Given the description of an element on the screen output the (x, y) to click on. 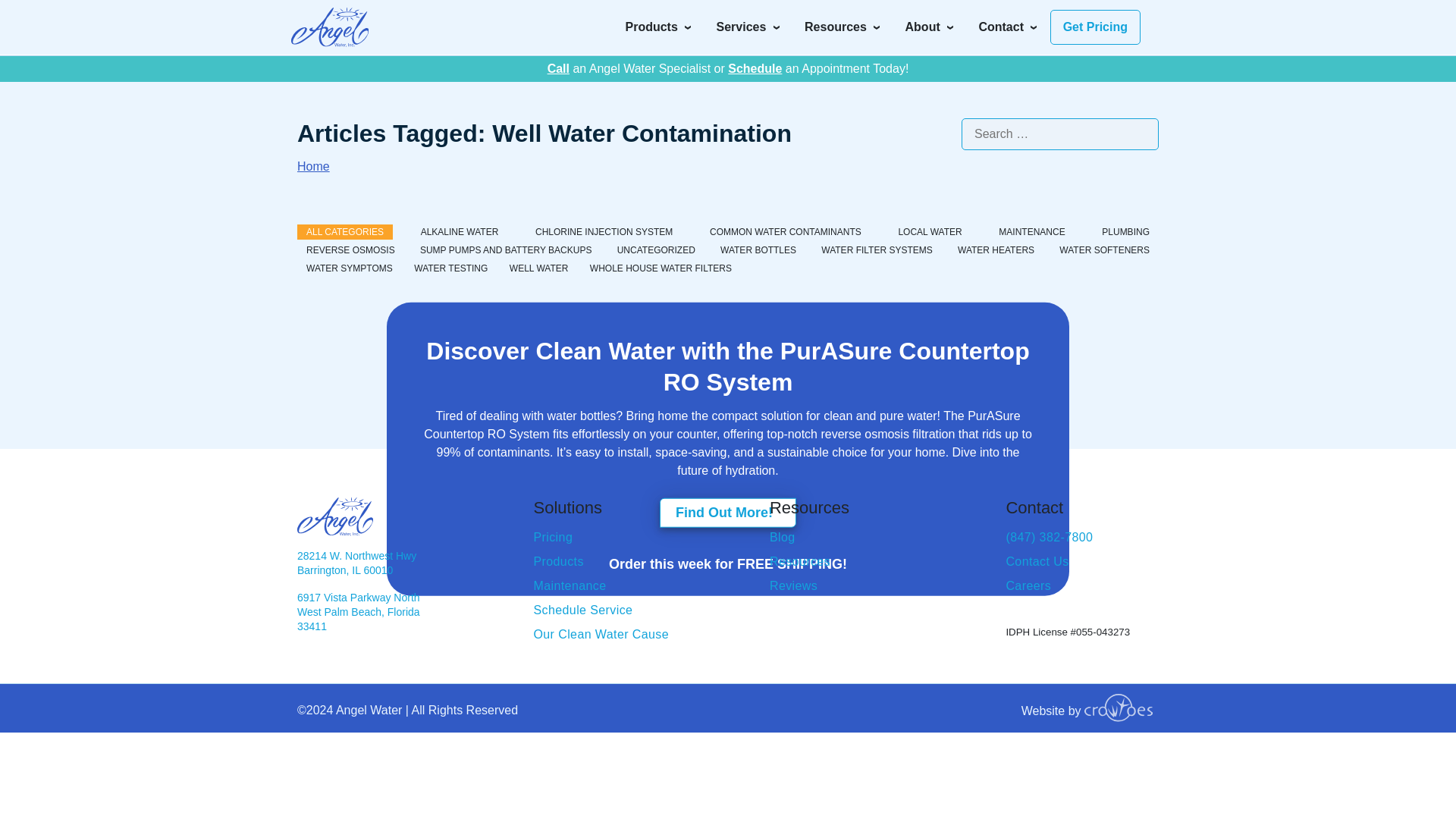
Services (748, 26)
About (929, 26)
Search (1023, 21)
Products (657, 26)
Get Pricing (1094, 27)
Angel Water (329, 26)
Resources (842, 26)
Contact (1007, 26)
